Given the description of an element on the screen output the (x, y) to click on. 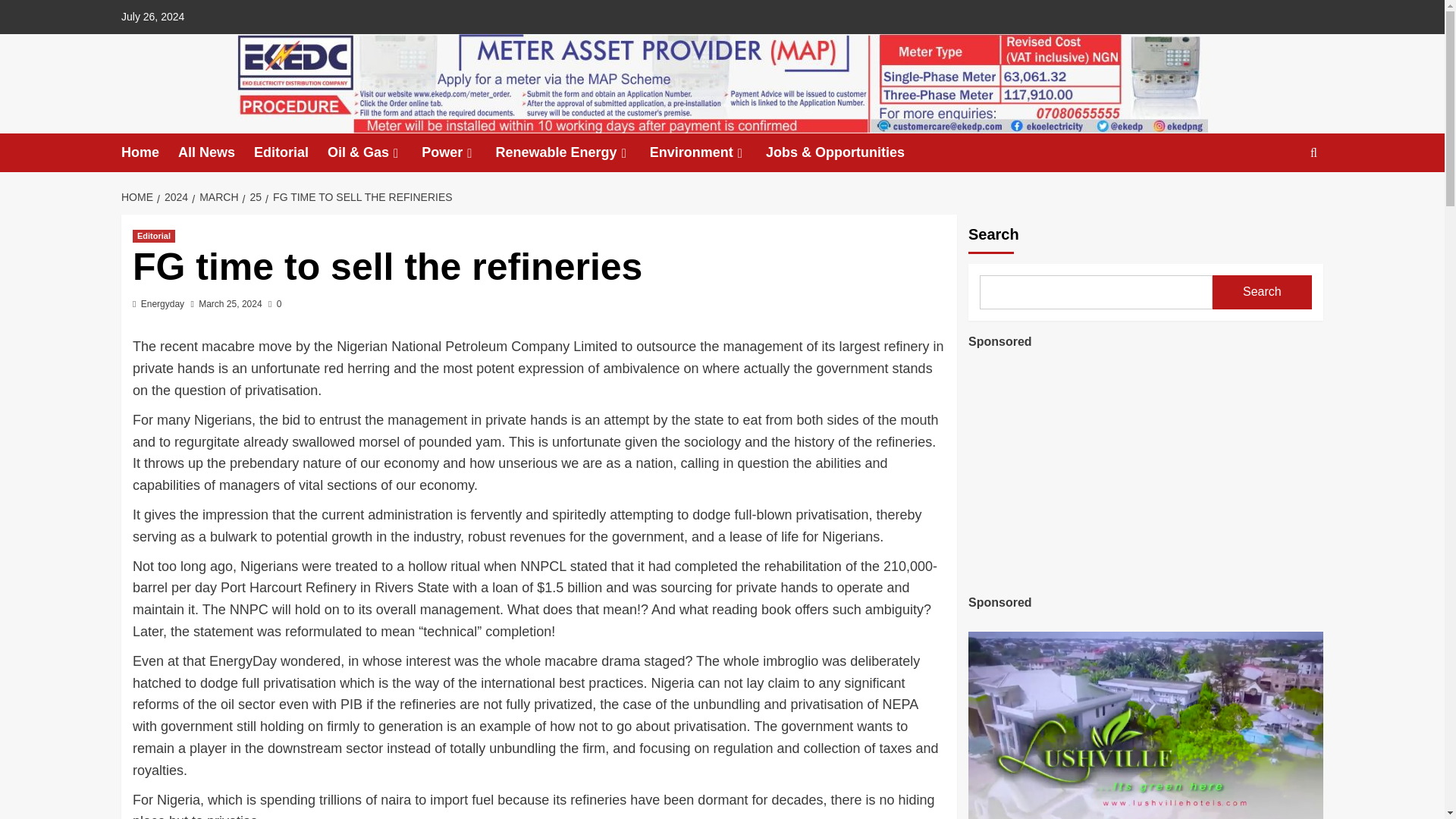
Renewable Energy (572, 152)
Power (458, 152)
Environment (707, 152)
HOME (138, 196)
25 (254, 196)
March 25, 2024 (230, 303)
Editorial (153, 236)
2024 (174, 196)
Search (1278, 198)
Energyday (162, 303)
MARCH (216, 196)
Lushville Hotels and Suites (1145, 469)
FG TIME TO SELL THE REFINERIES (360, 196)
0 (274, 303)
All News (215, 152)
